Given the description of an element on the screen output the (x, y) to click on. 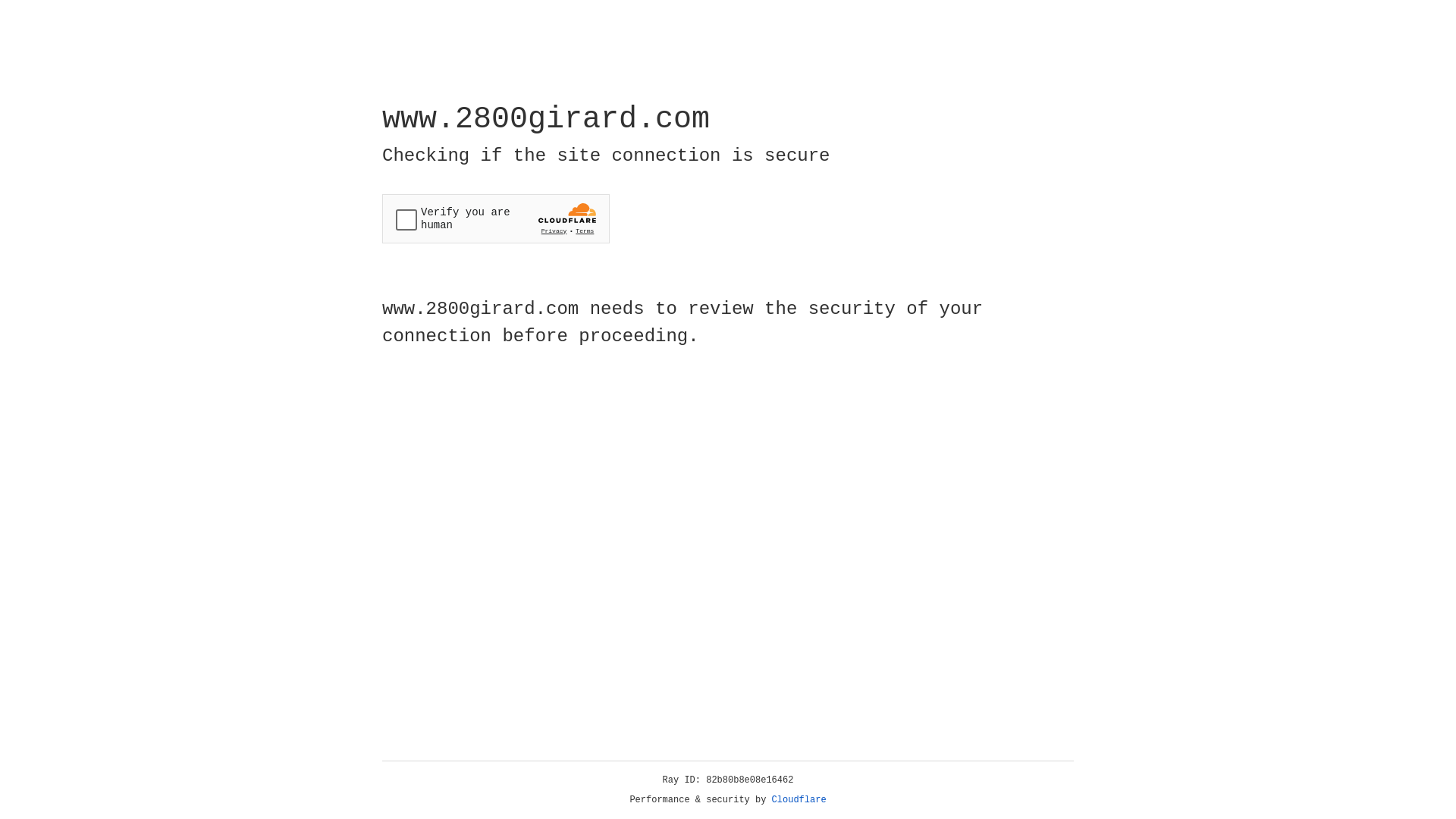
Widget containing a Cloudflare security challenge Element type: hover (495, 218)
Cloudflare Element type: text (798, 799)
